Given the description of an element on the screen output the (x, y) to click on. 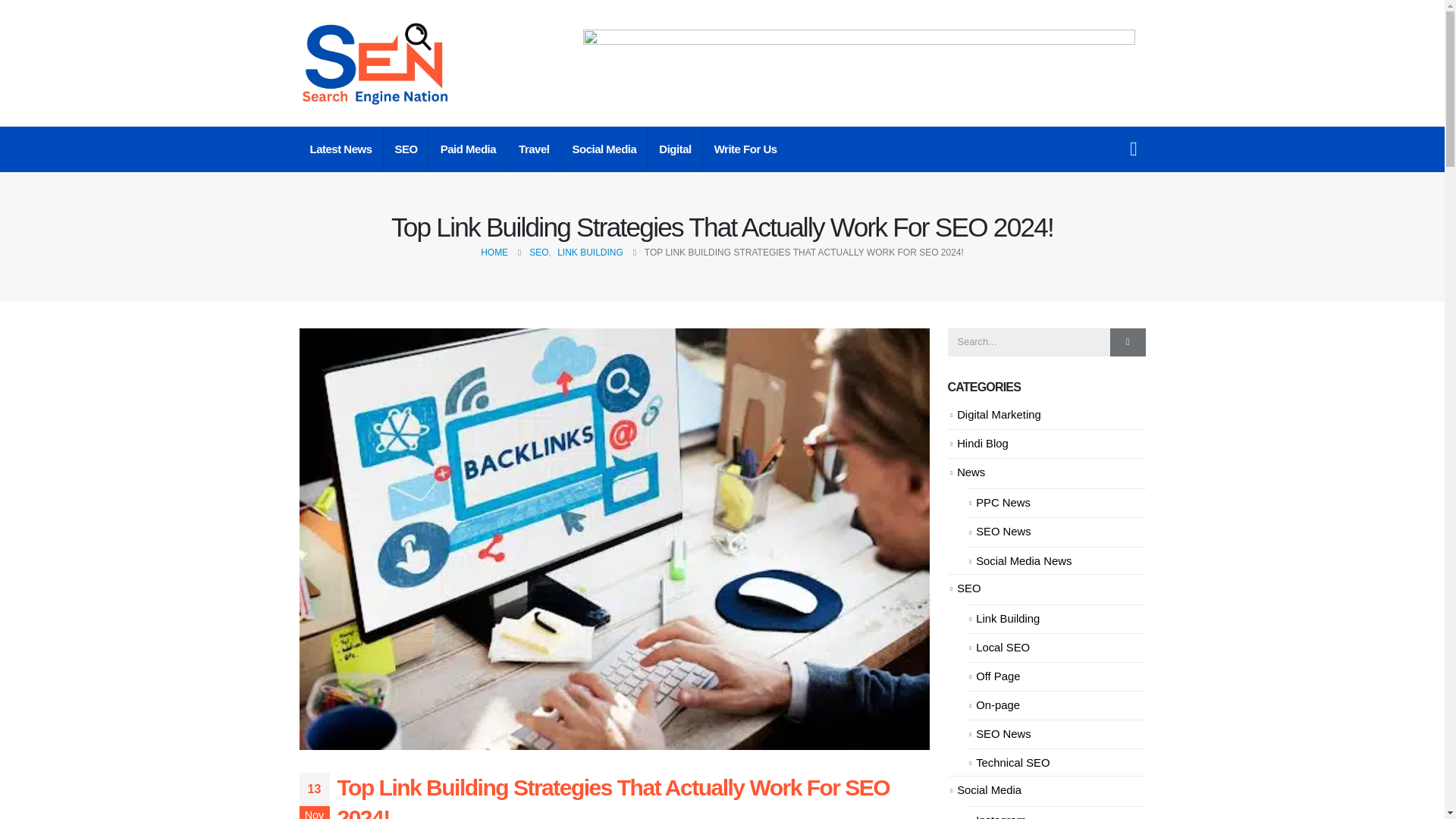
Go to Home Page (494, 252)
Latest News (340, 148)
SEO (406, 148)
